Given the description of an element on the screen output the (x, y) to click on. 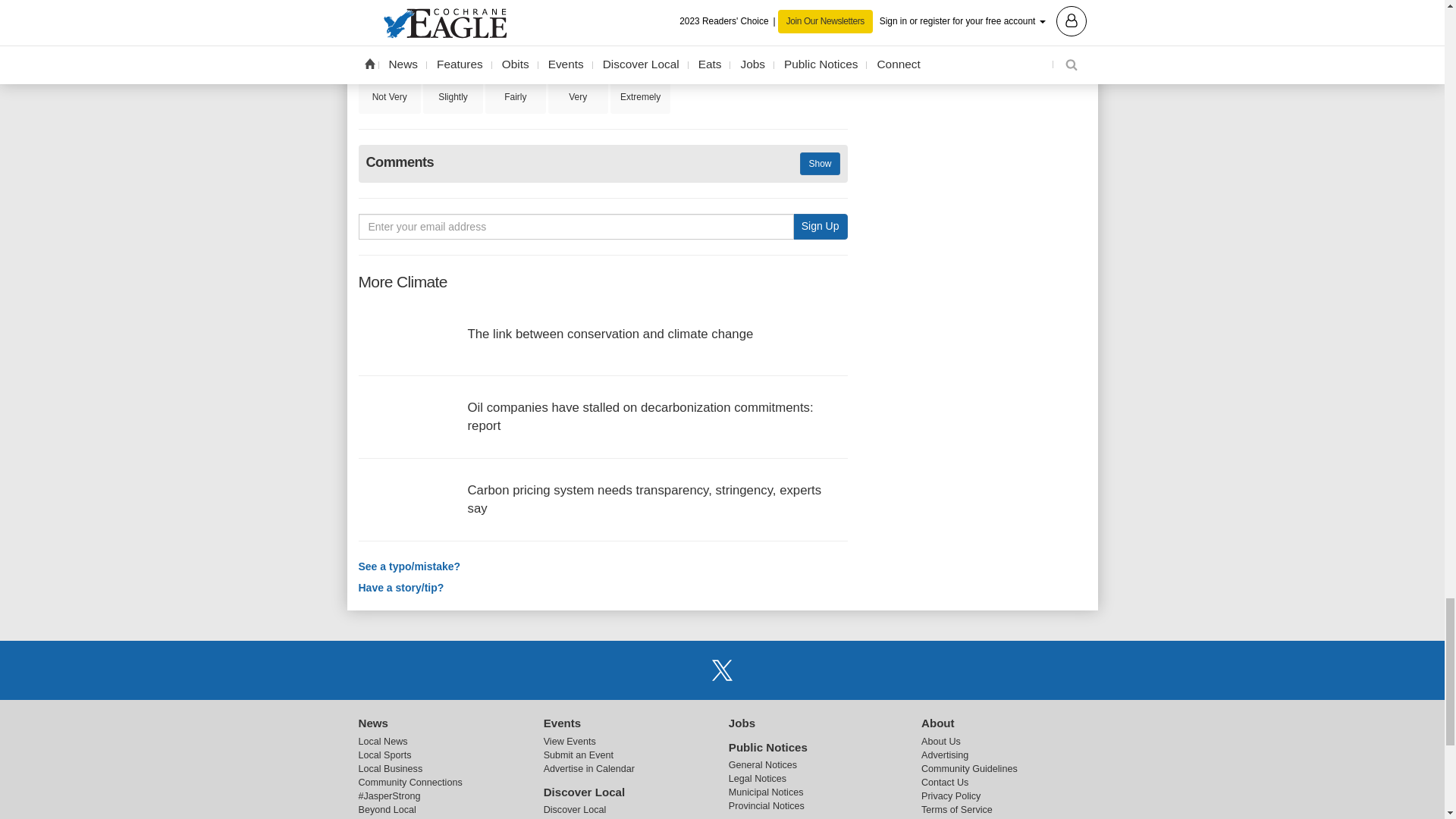
Facebook (683, 669)
X (721, 669)
Instagram (760, 669)
